Given the description of an element on the screen output the (x, y) to click on. 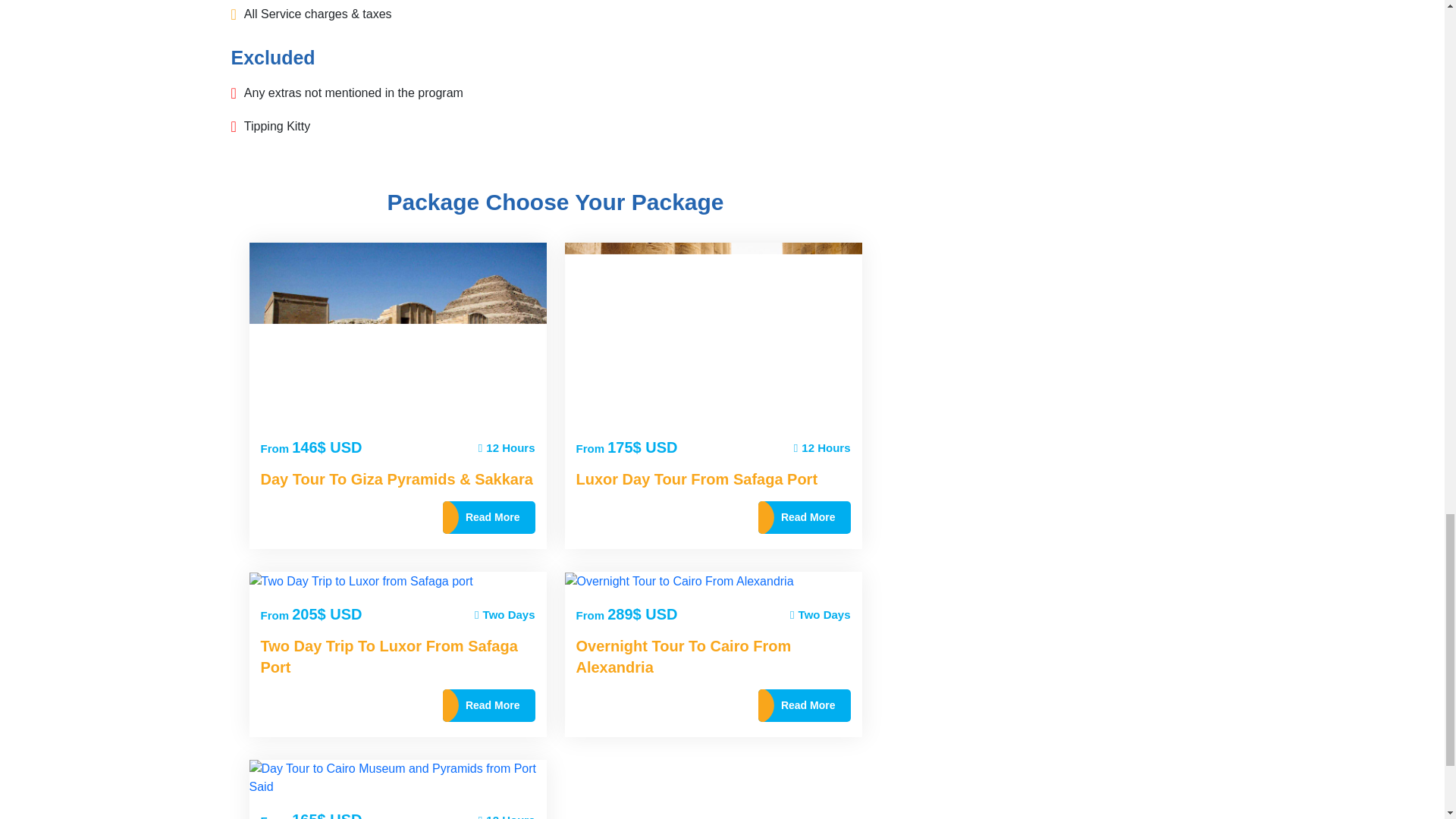
Overnight Tour to Cairo From Alexandria (678, 581)
Day Tour to Cairo Museum and Pyramids from Port Said (397, 778)
Two Day Trip to Luxor from Safaga port (359, 581)
Luxor Day Tour from Safaga Port (712, 333)
